Given the description of an element on the screen output the (x, y) to click on. 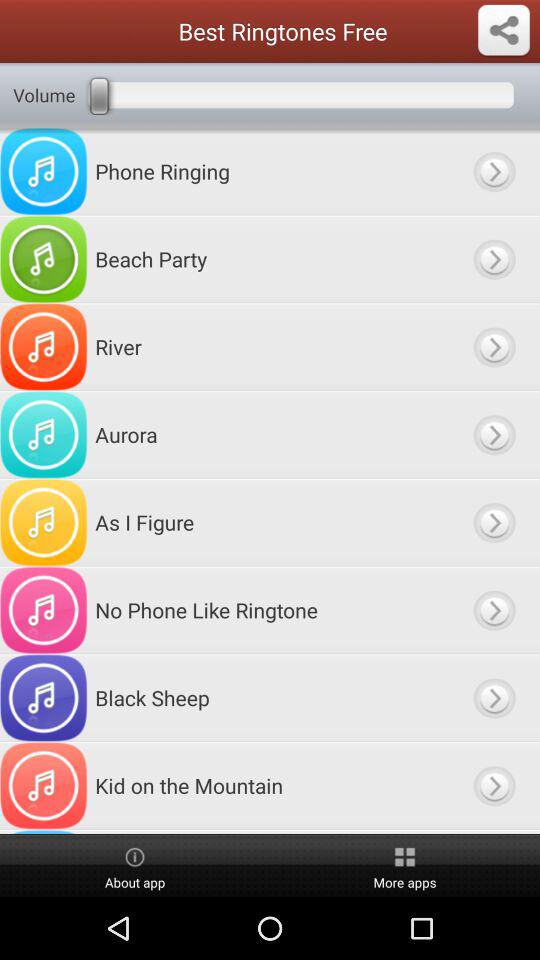
select as i figure (494, 522)
